Given the description of an element on the screen output the (x, y) to click on. 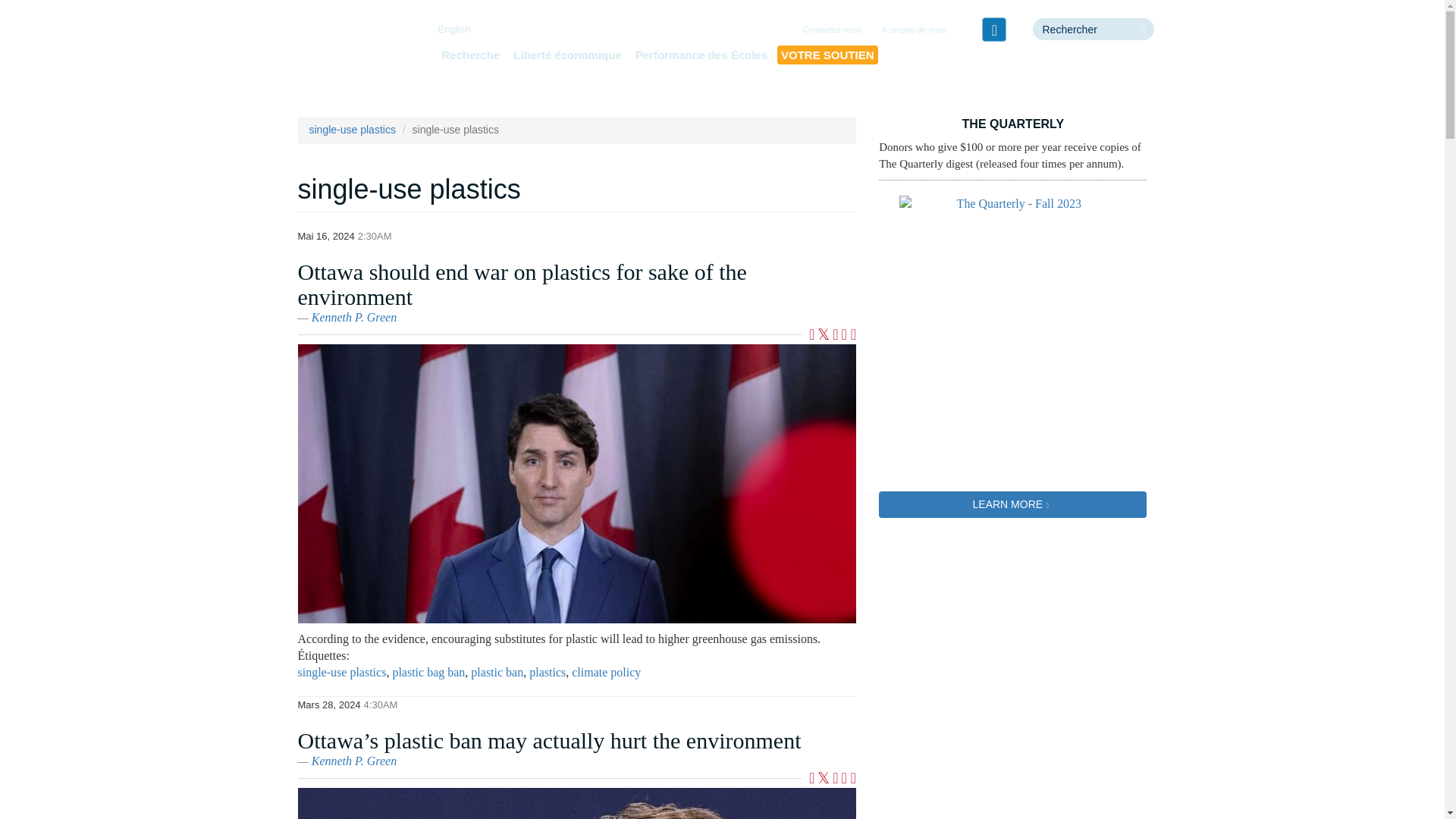
Accueil (352, 56)
plastic bag ban (427, 671)
A propos de nous (914, 30)
single-use plastics (352, 129)
Contactez-nous (831, 30)
VOTRE SOUTIEN (827, 54)
plastics (547, 671)
plastic ban (496, 671)
